Given the description of an element on the screen output the (x, y) to click on. 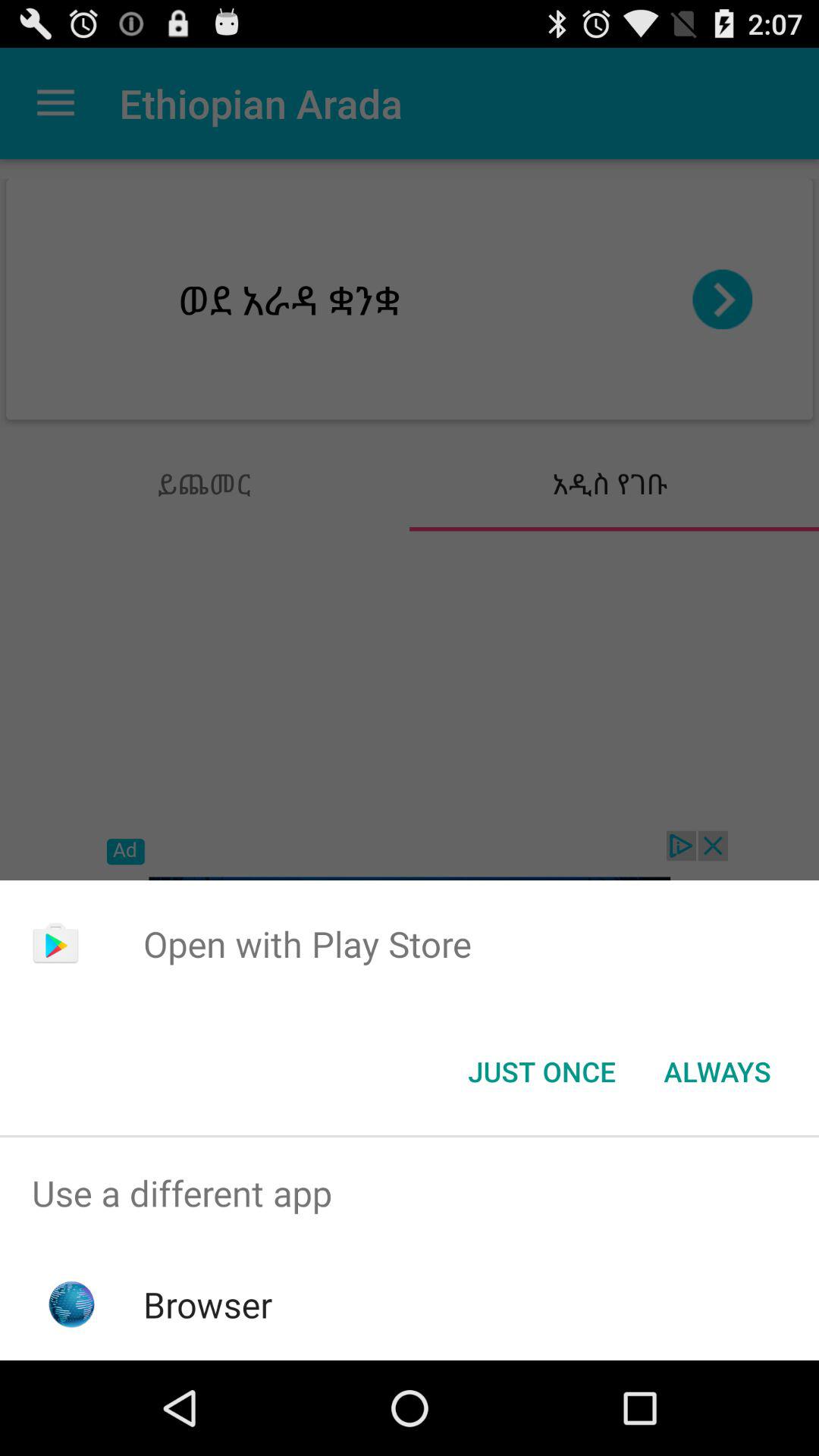
launch item at the bottom right corner (717, 1071)
